Given the description of an element on the screen output the (x, y) to click on. 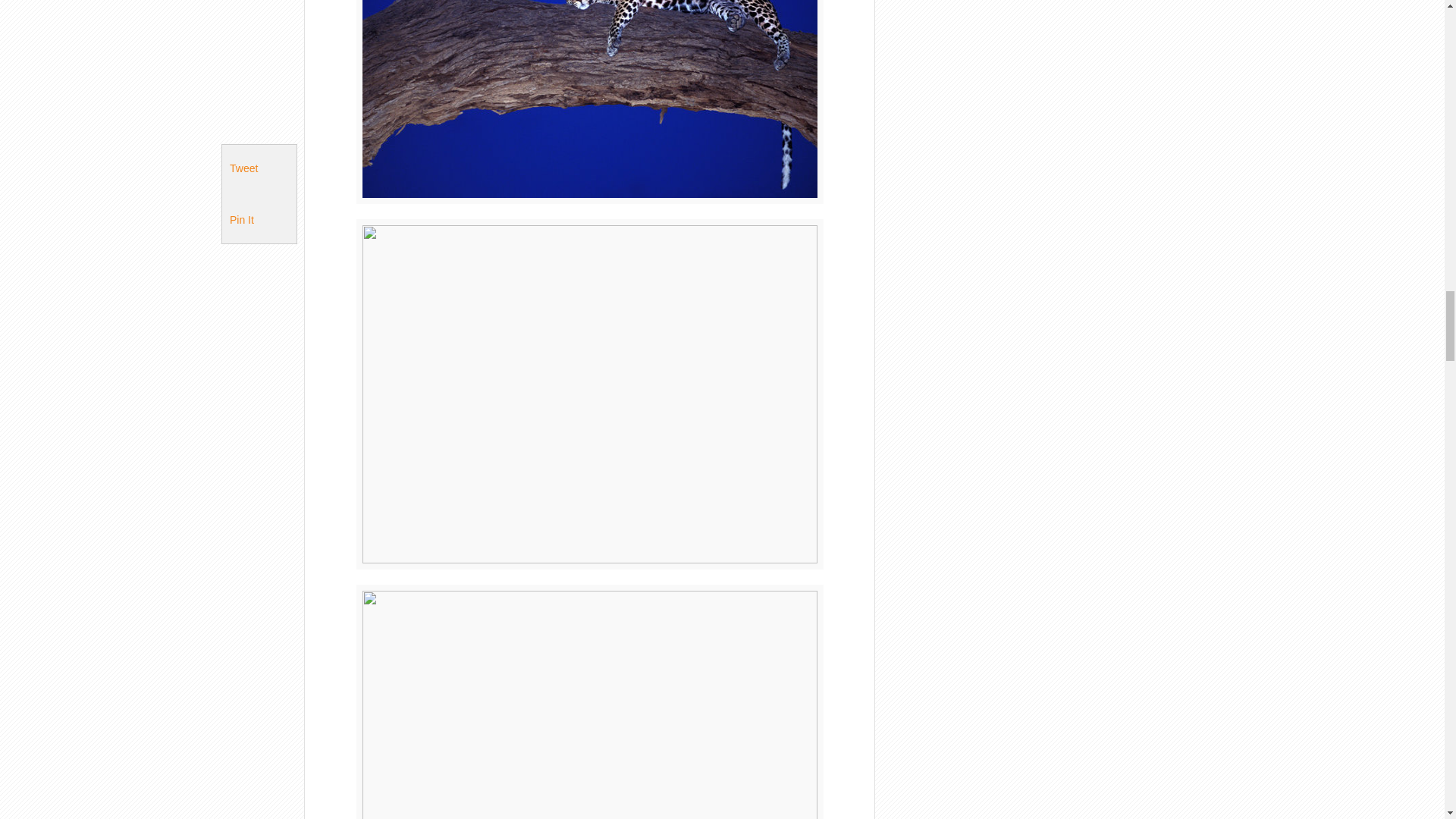
animal-9 (590, 701)
animal-12 (590, 101)
